Given the description of an element on the screen output the (x, y) to click on. 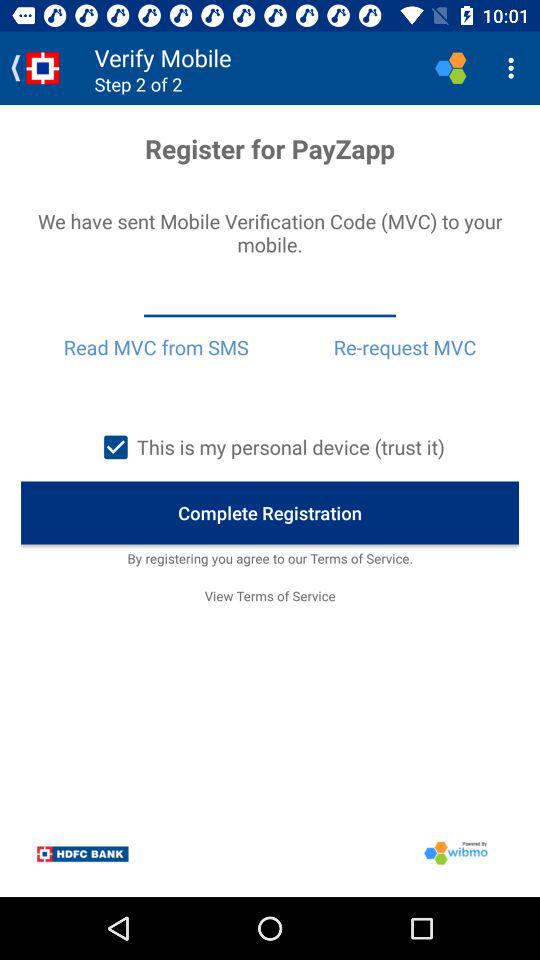
press icon at the top left corner (36, 68)
